Given the description of an element on the screen output the (x, y) to click on. 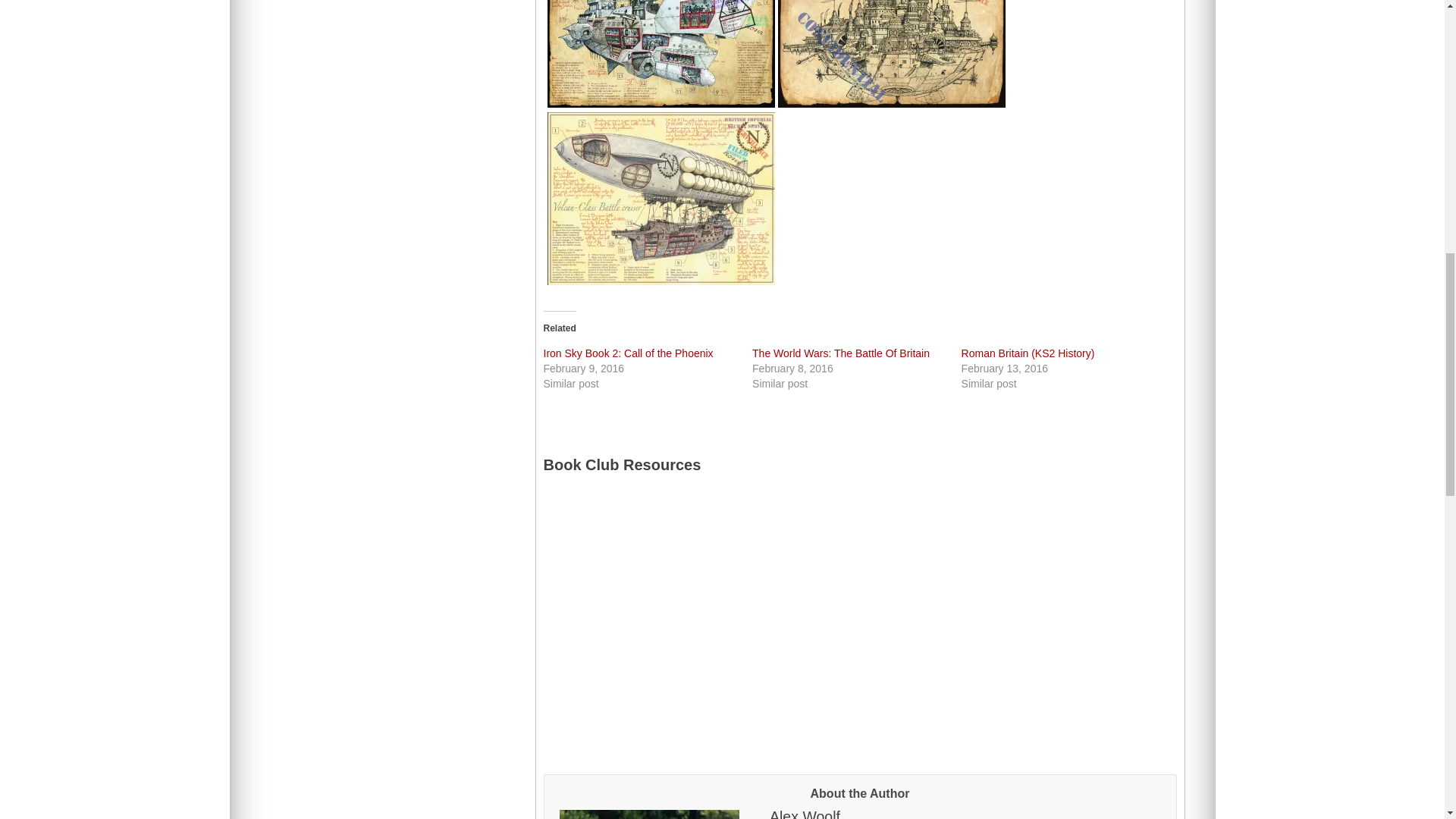
The World Wars: The Battle Of Britain (841, 353)
Iron Sky Book 2: Call of the Phoenix (628, 353)
Iron Sky Book 2: Call of the Phoenix (628, 353)
The World Wars: The Battle Of Britain (841, 353)
